Given the description of an element on the screen output the (x, y) to click on. 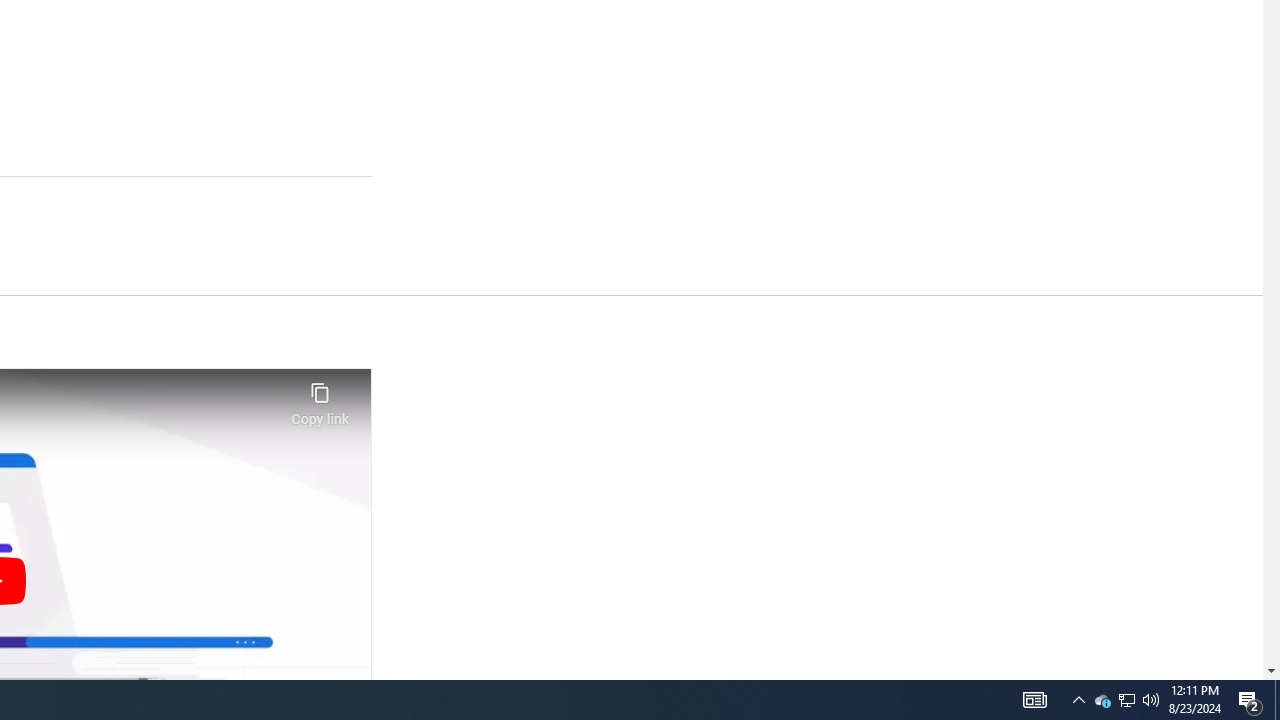
Copy link (319, 398)
